Given the description of an element on the screen output the (x, y) to click on. 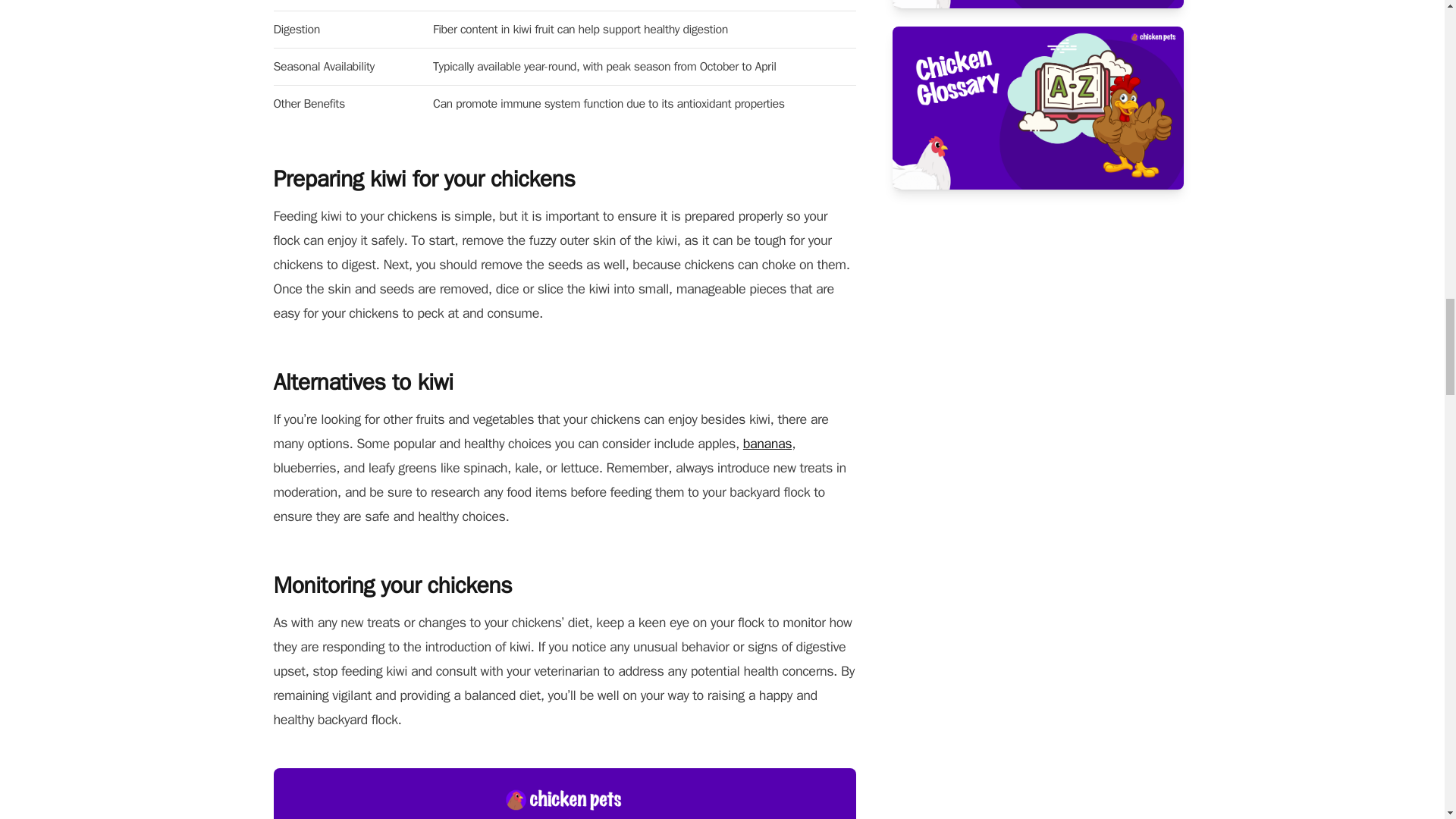
bananas (767, 443)
bananas (767, 443)
